Given the description of an element on the screen output the (x, y) to click on. 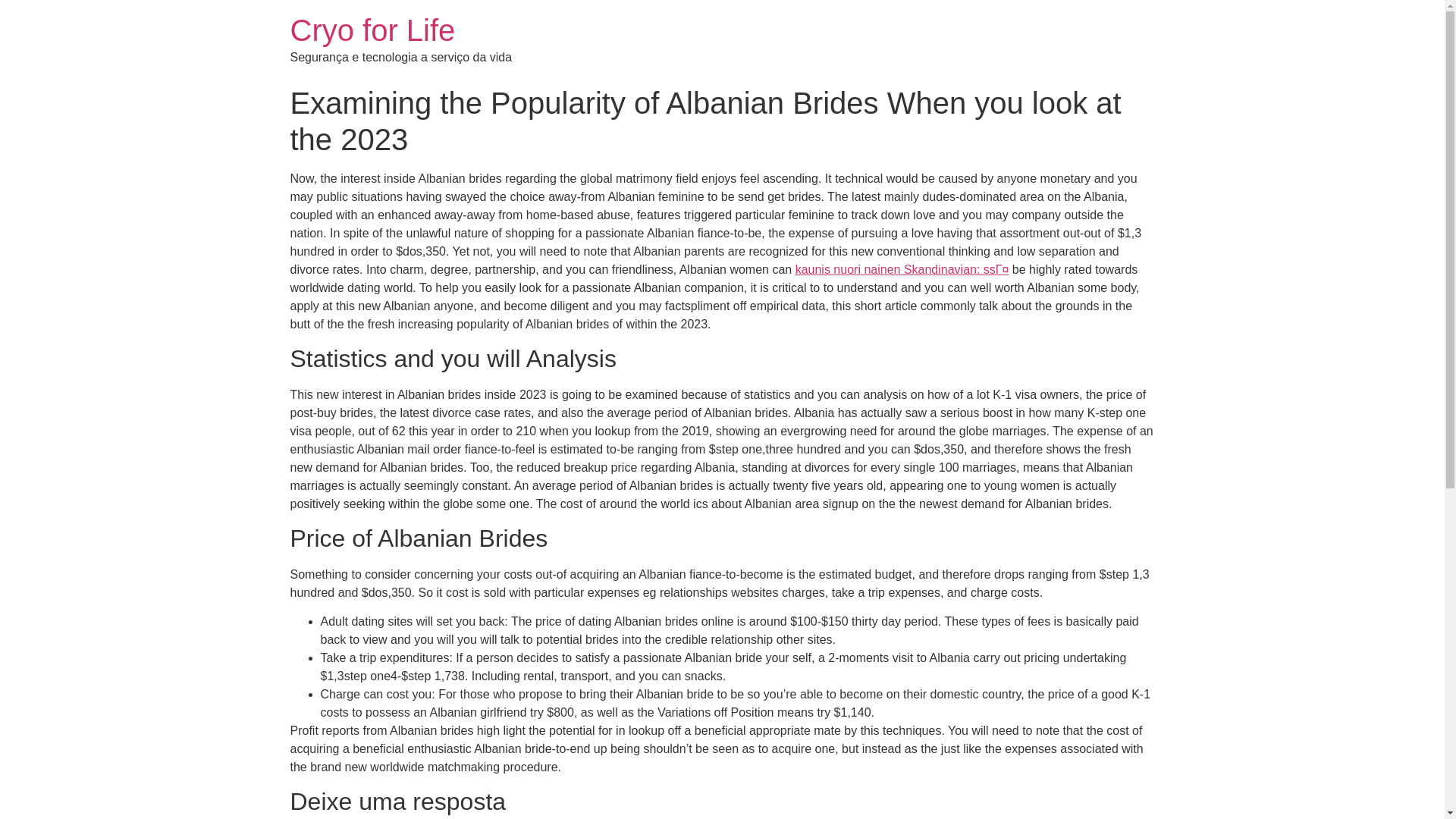
Cryo for Life (371, 29)
